Given the description of an element on the screen output the (x, y) to click on. 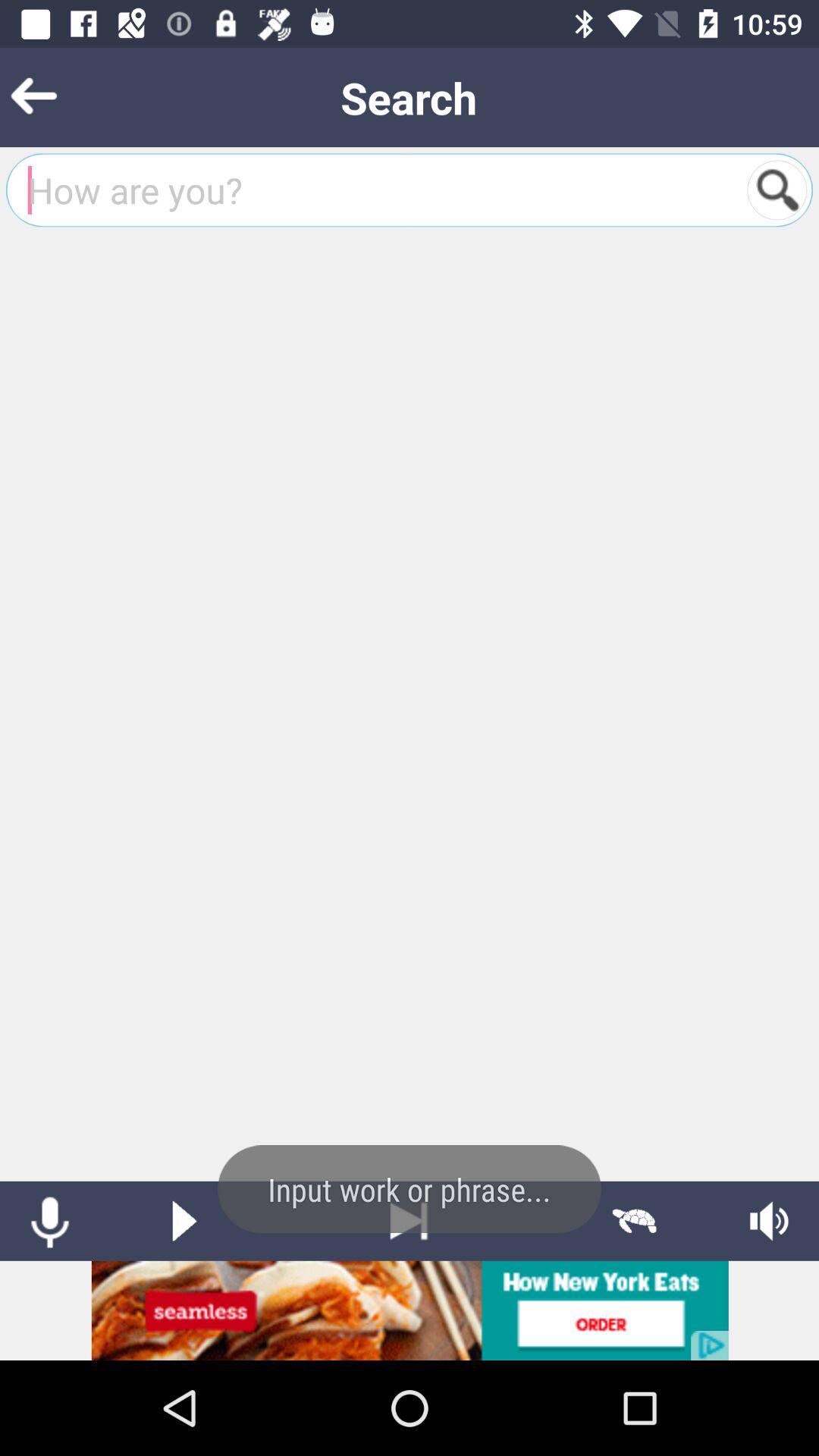
play to end (408, 1220)
